Given the description of an element on the screen output the (x, y) to click on. 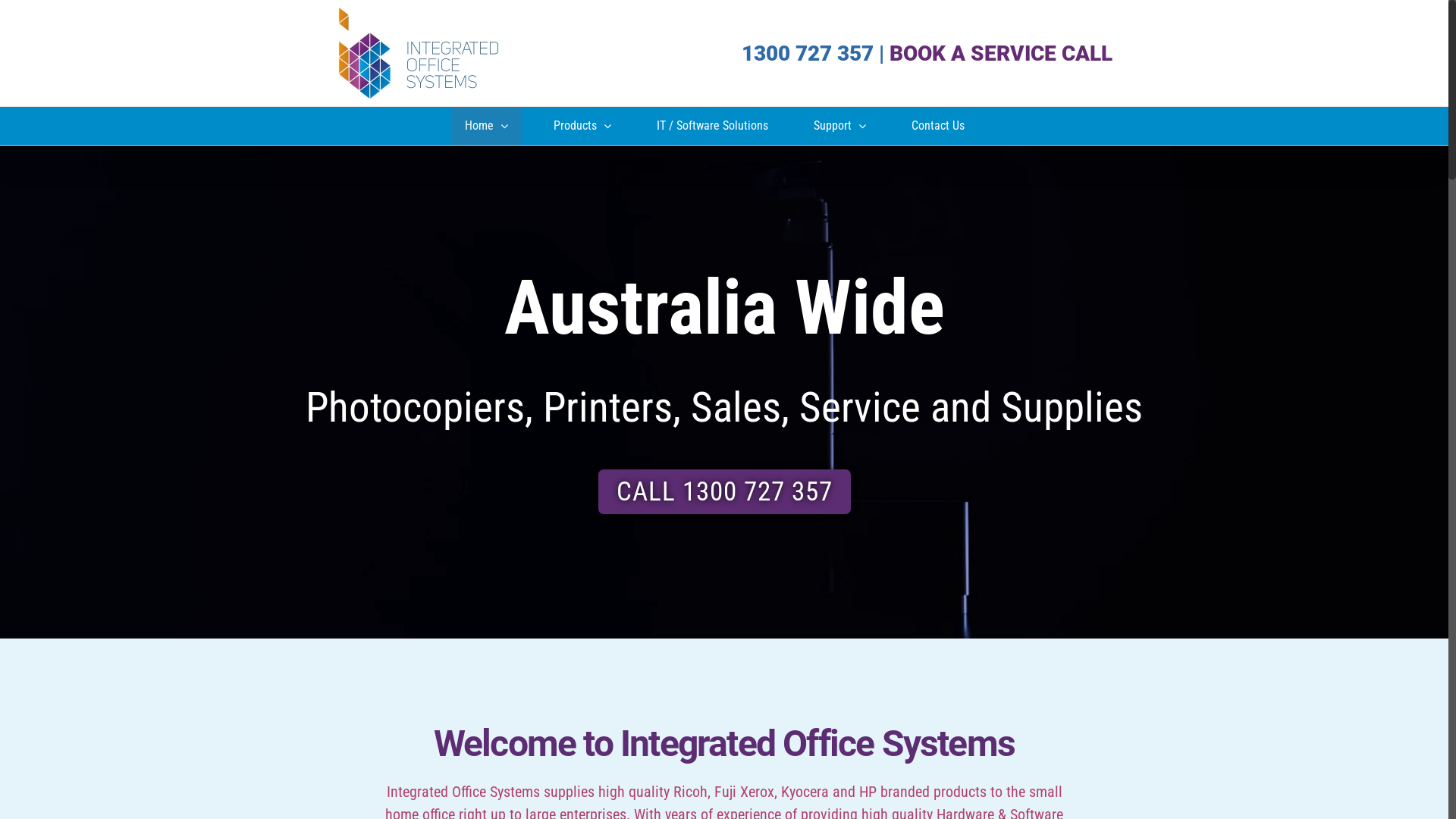
BOOK A SERVICE CALL Element type: text (1000, 52)
Home Element type: text (486, 125)
CALL 1300 727 357 Element type: text (723, 491)
IT / Software Solutions Element type: text (712, 125)
Support Element type: text (839, 125)
Products Element type: text (581, 125)
Contact Us Element type: text (937, 125)
